Given the description of an element on the screen output the (x, y) to click on. 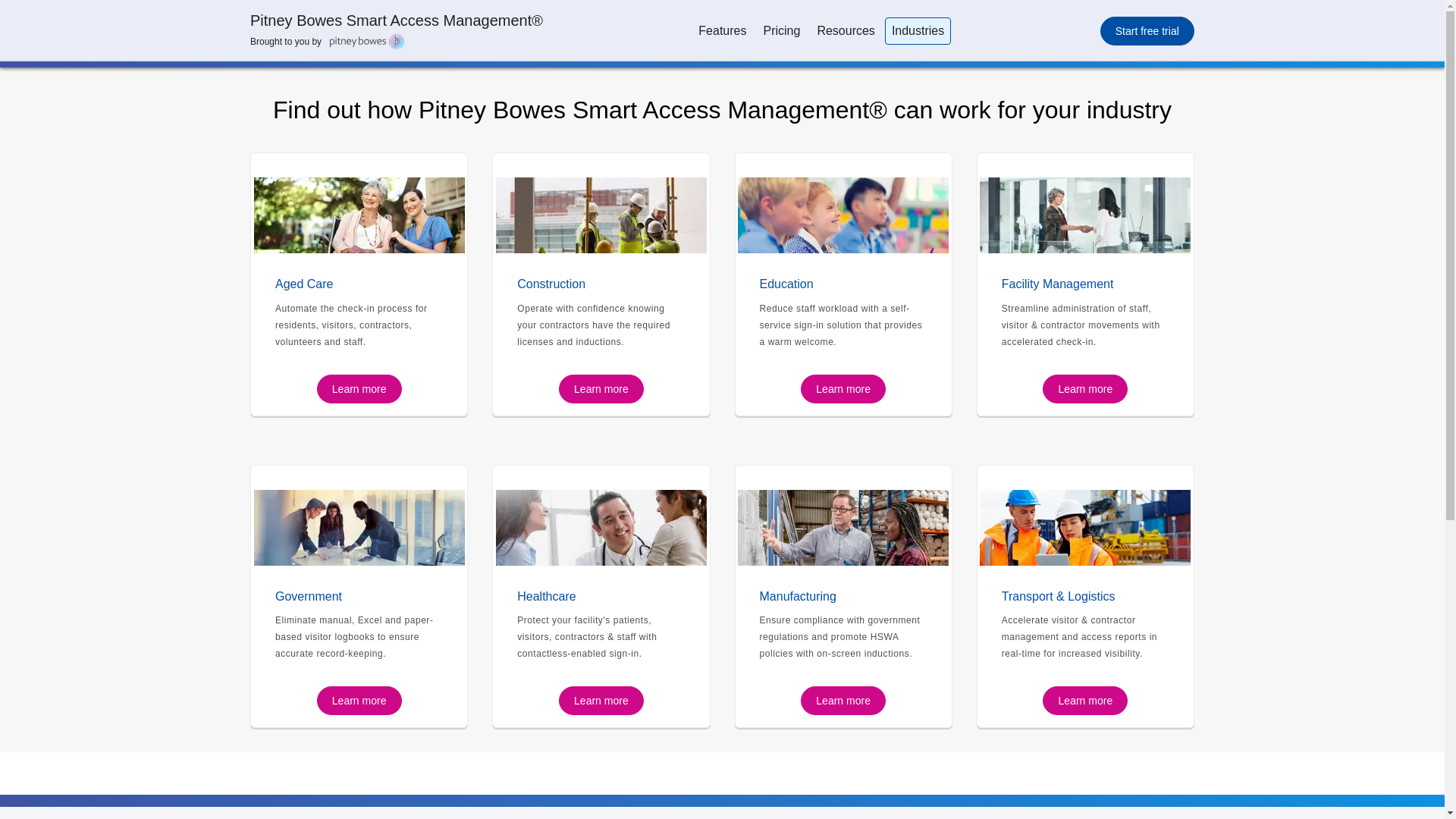
Resources (844, 31)
Learn more (842, 700)
Learn more (601, 700)
Learn more about Government (358, 515)
Learn more about Facility Management (1085, 284)
Learn more (842, 388)
Construction (600, 284)
Healthcare (600, 596)
Learn more about Construction (601, 203)
Learn more about Government (359, 700)
Learn more (1084, 388)
Learn more about Aged Care (358, 284)
Learn more about Facility Management (1084, 388)
Start free trial (1146, 30)
Learn more about Facility Management (1084, 203)
